Given the description of an element on the screen output the (x, y) to click on. 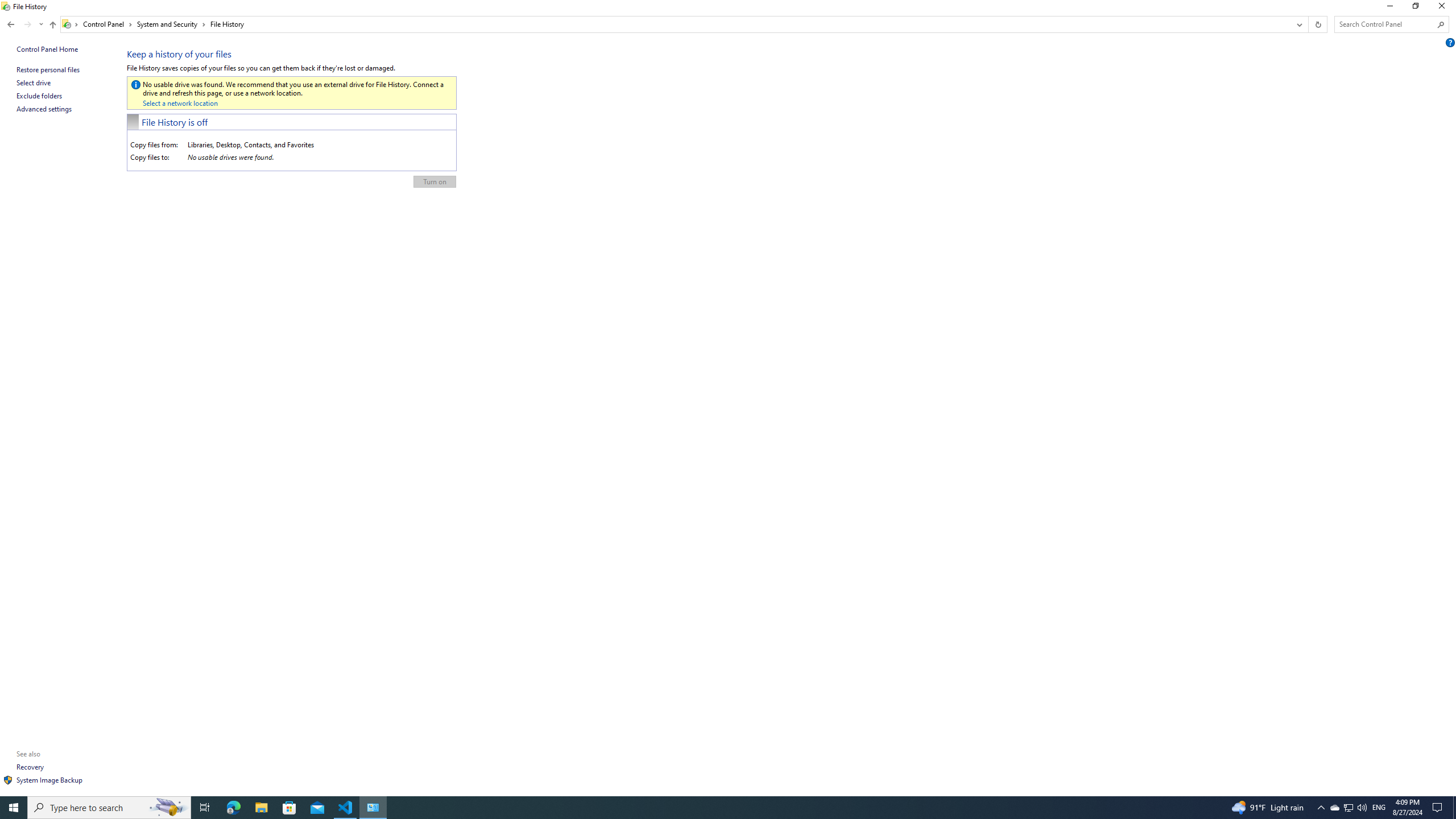
Advanced settings (44, 108)
Up to "System and Security" (Alt + Up Arrow) (52, 24)
Recovery (30, 766)
Forward (Alt + Right Arrow) (27, 23)
Control Panel (107, 23)
Search (1441, 24)
